Given the description of an element on the screen output the (x, y) to click on. 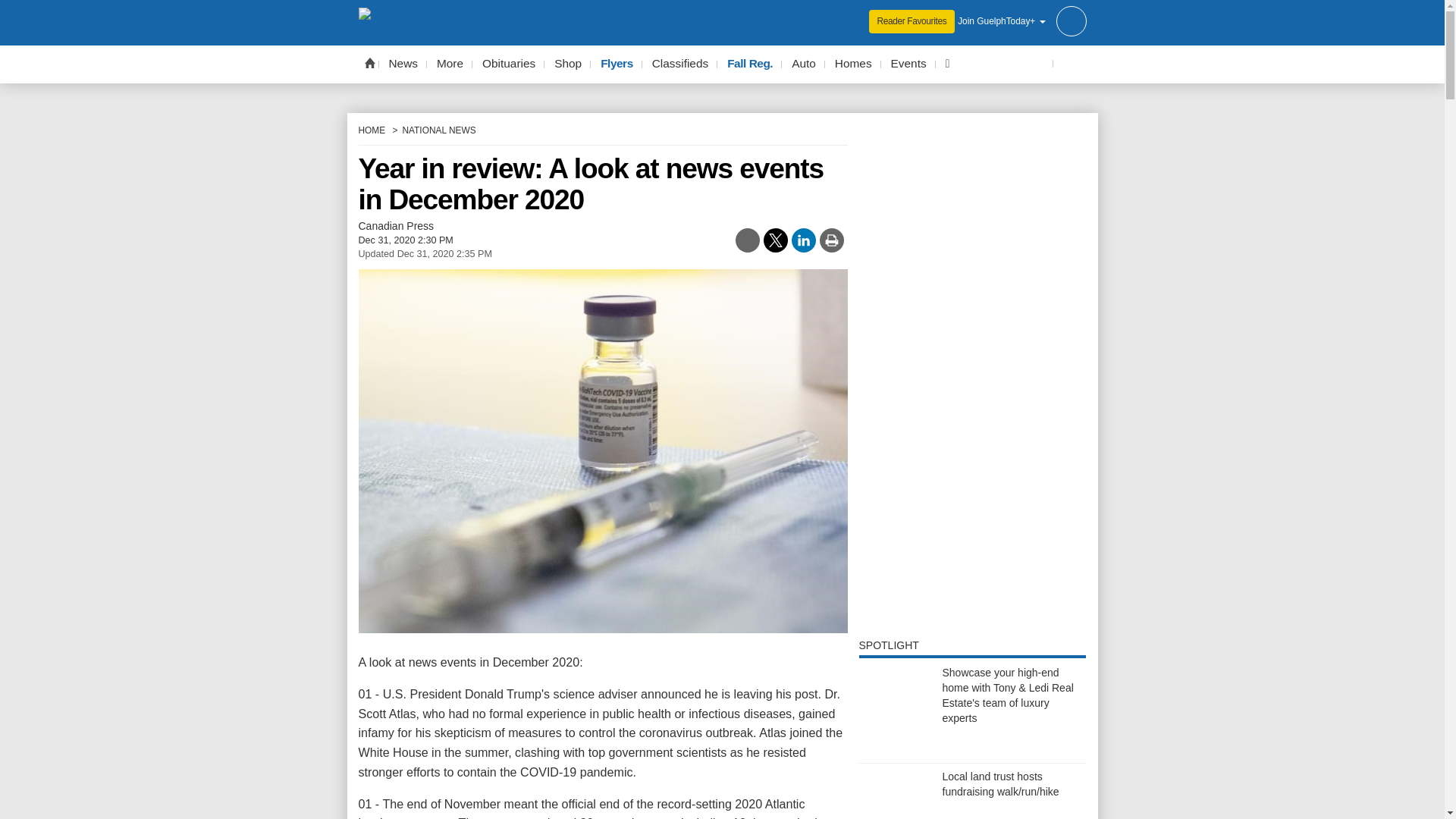
Reader Favourites (912, 21)
News (403, 64)
Home (368, 62)
